Given the description of an element on the screen output the (x, y) to click on. 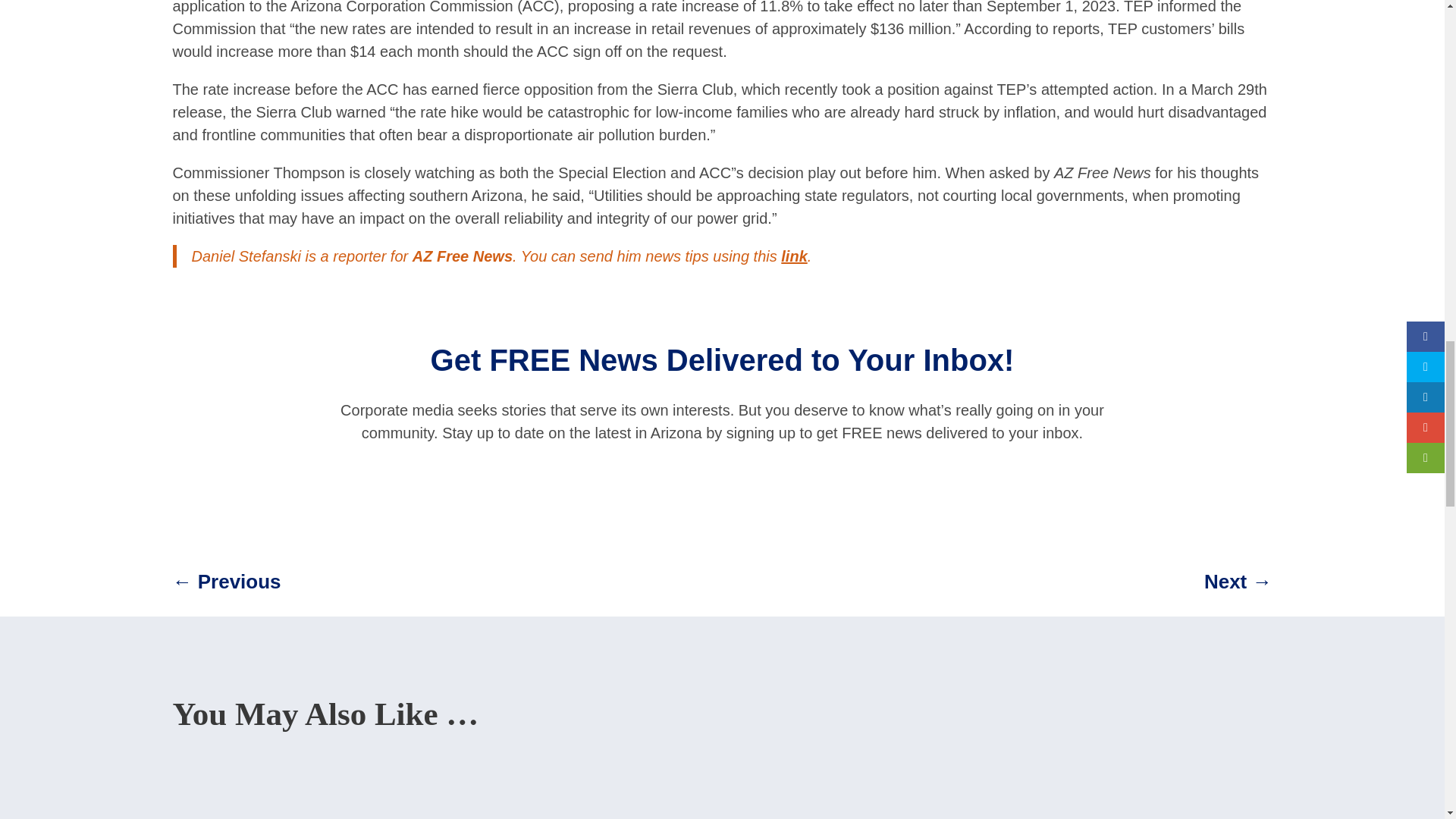
link (793, 256)
